Given the description of an element on the screen output the (x, y) to click on. 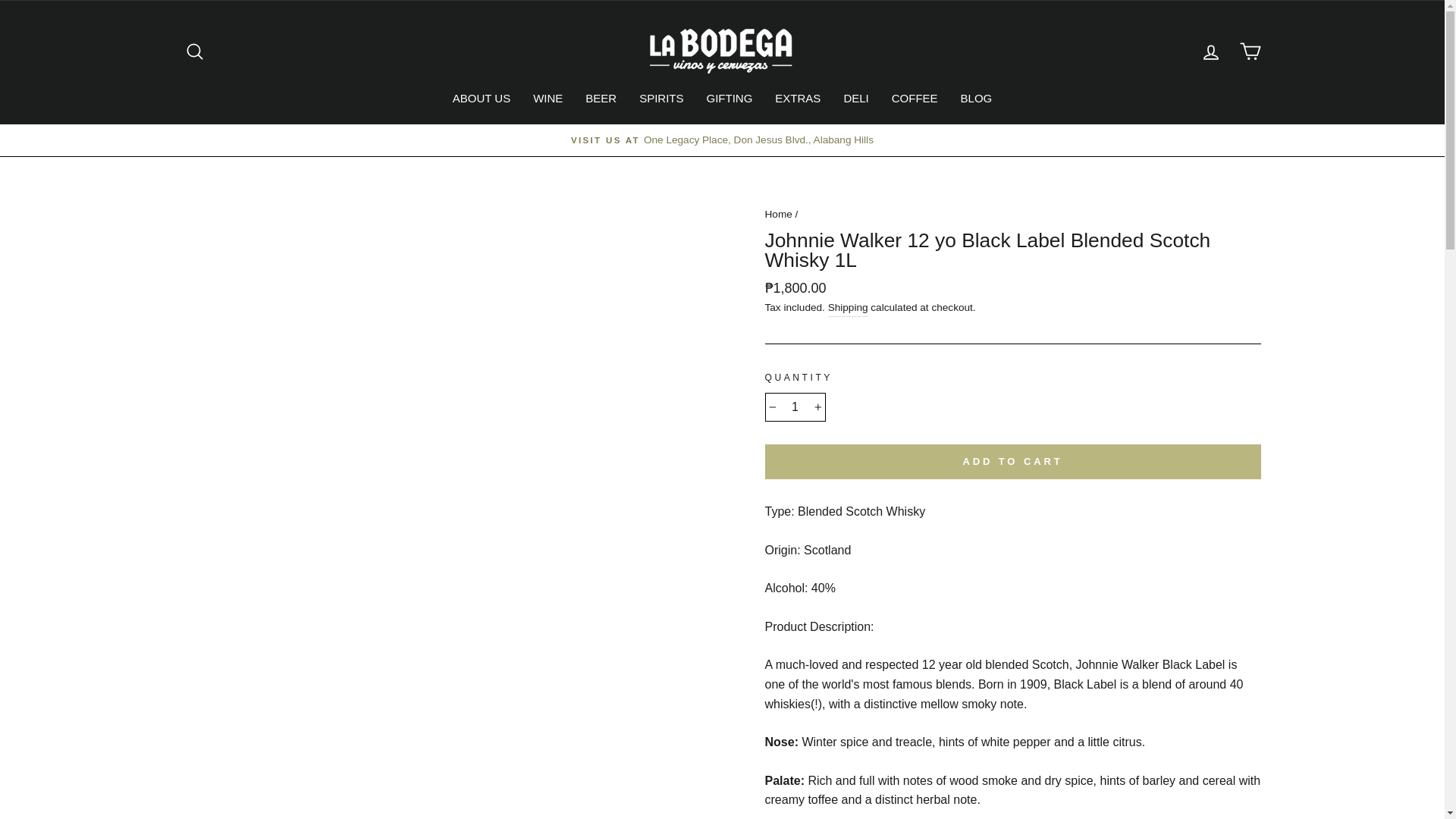
1 (794, 407)
Back to the frontpage (778, 214)
